Given the description of an element on the screen output the (x, y) to click on. 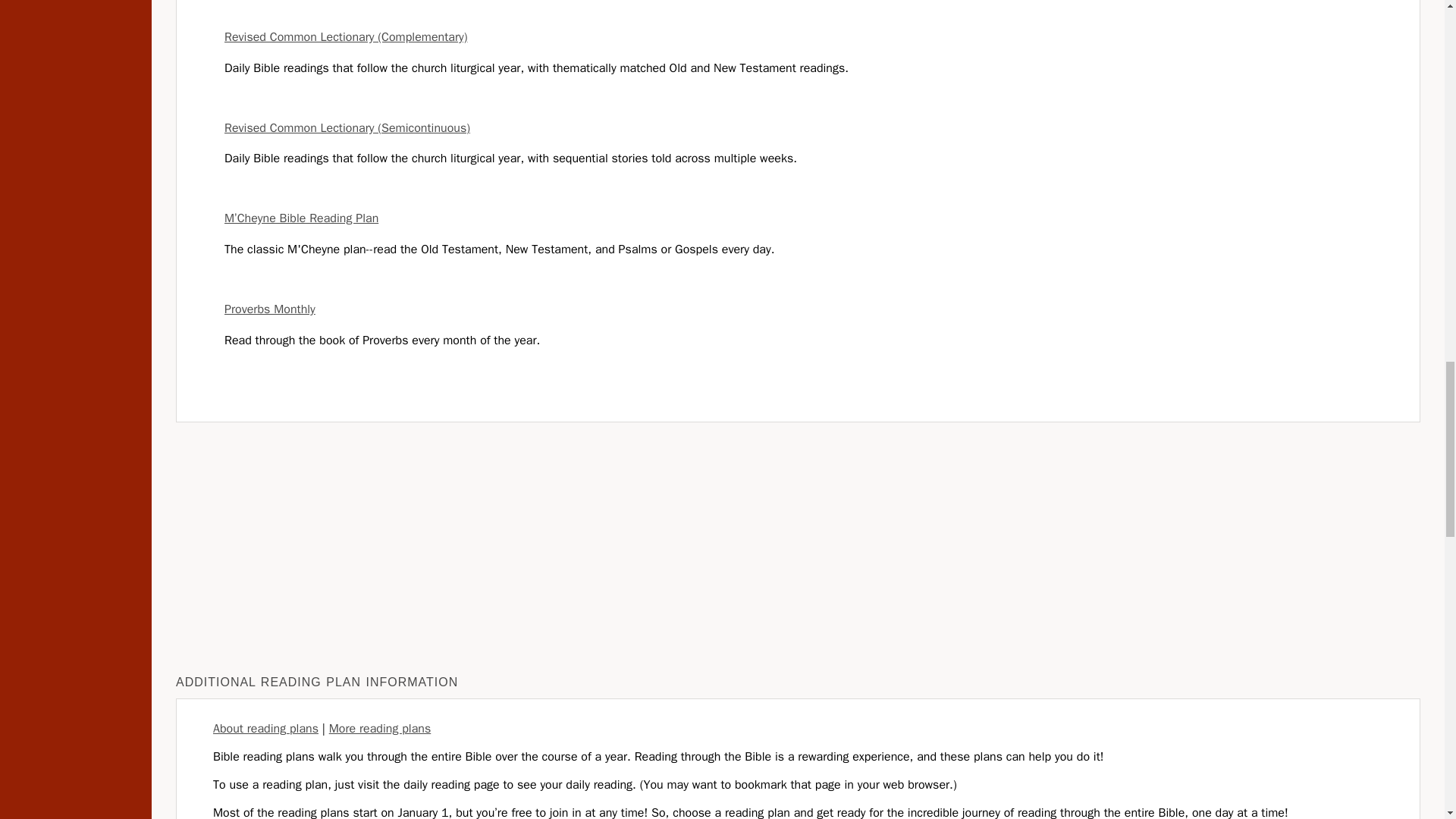
About reading plans (265, 728)
